Given the description of an element on the screen output the (x, y) to click on. 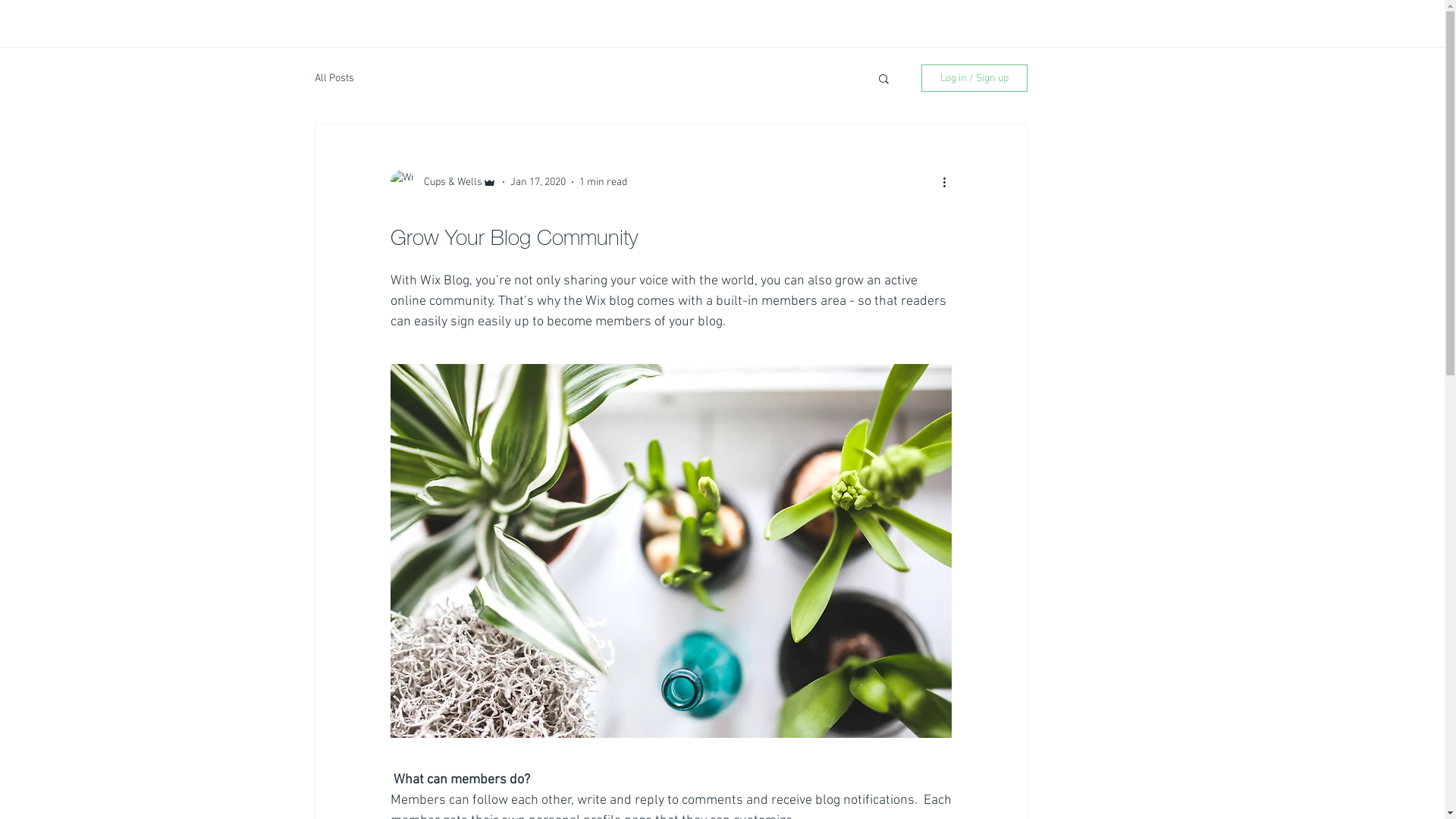
All Posts Element type: text (333, 77)
Log in / Sign up Element type: text (973, 77)
